Given the description of an element on the screen output the (x, y) to click on. 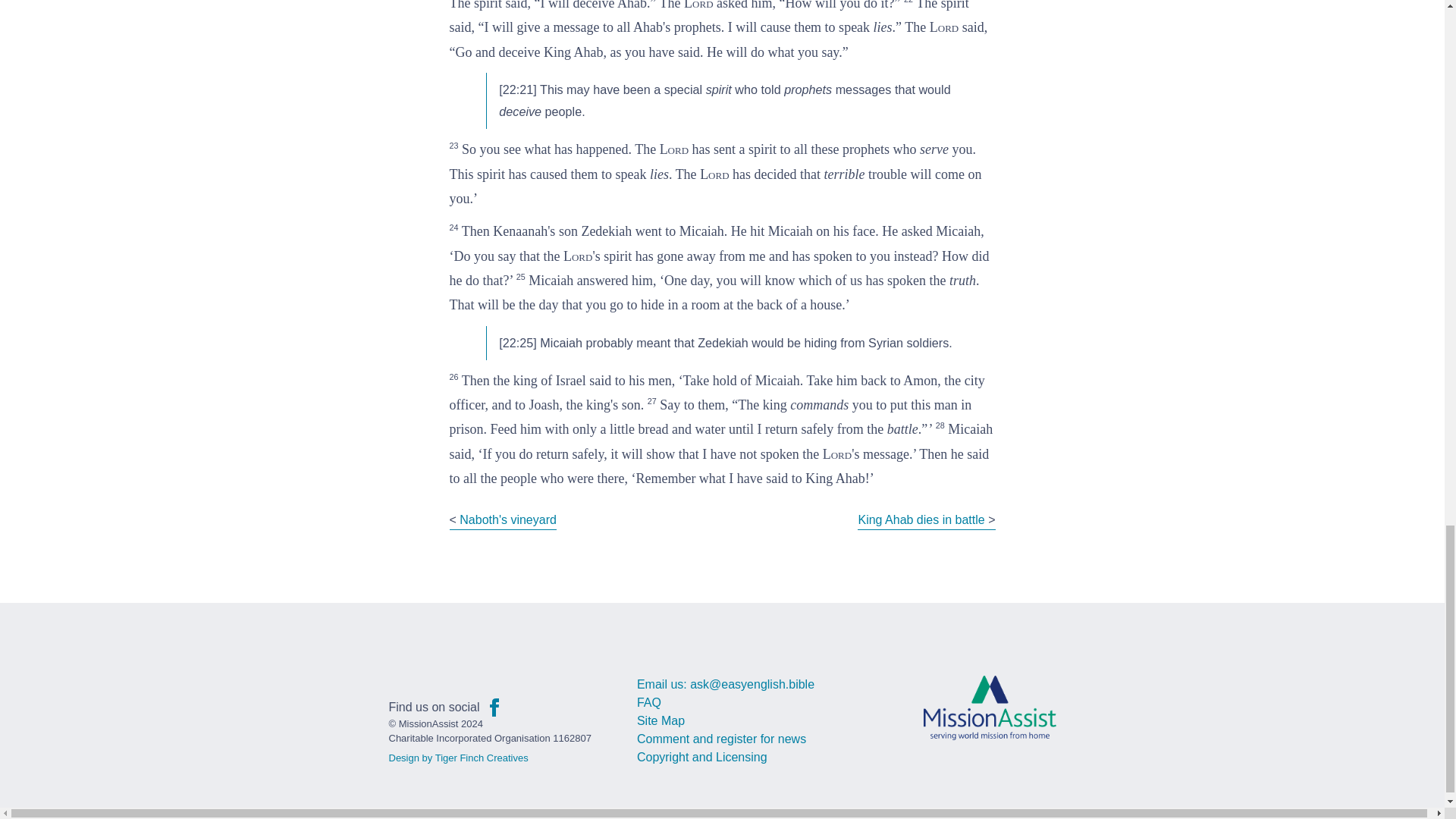
Design by Tiger Finch Creatives (457, 757)
Comment and register for news (721, 738)
Naboth's vineyard (508, 519)
FAQ (649, 702)
King Ahab dies in battle (920, 519)
Site Map (660, 720)
Copyright and Licensing (702, 757)
